Given the description of an element on the screen output the (x, y) to click on. 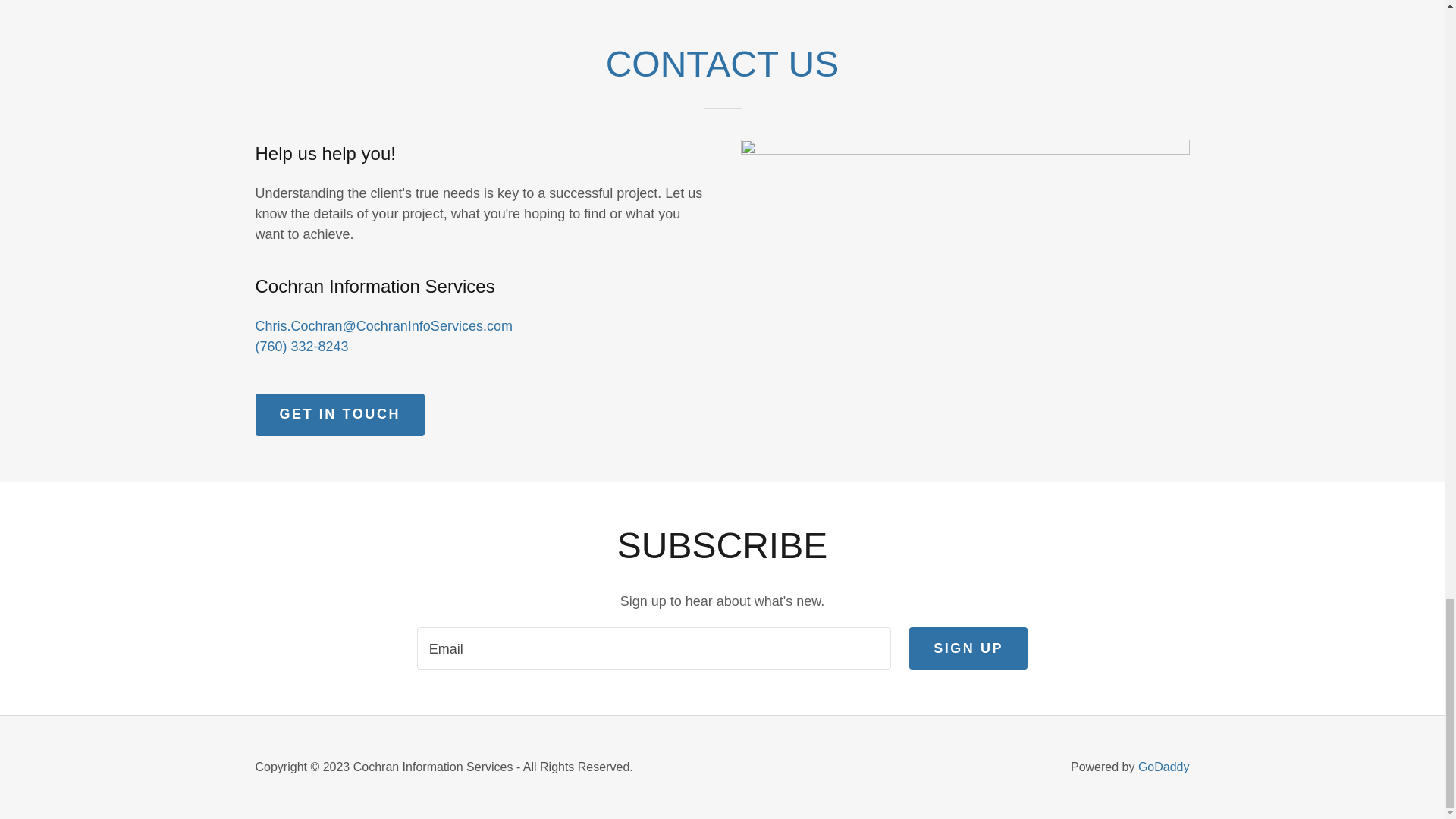
SIGN UP (967, 648)
GoDaddy (1163, 766)
GET IN TOUCH (339, 414)
